Given the description of an element on the screen output the (x, y) to click on. 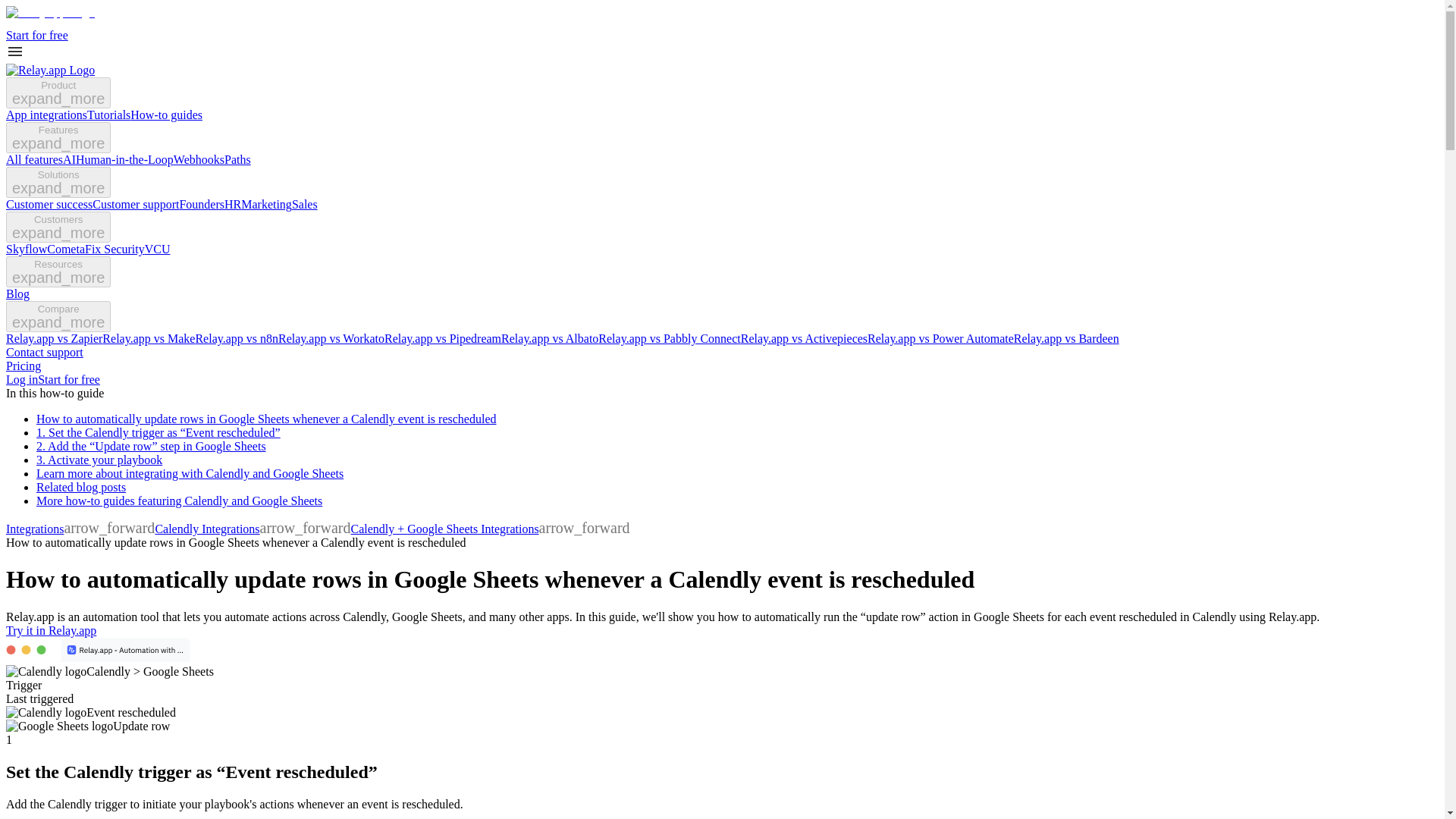
Webhooks (198, 159)
Fix Security (114, 248)
Relay.app vs Zapier (53, 338)
Relay.app vs Pipedream (442, 338)
Skyflow (25, 248)
Blog (17, 293)
Relay.app vs Power Automate (940, 338)
App integrations (46, 114)
Relay.app vs Albato (549, 338)
Founders (201, 204)
Sales (304, 204)
HR (232, 204)
Marketing (266, 204)
All features (33, 159)
How-to guides (166, 114)
